Given the description of an element on the screen output the (x, y) to click on. 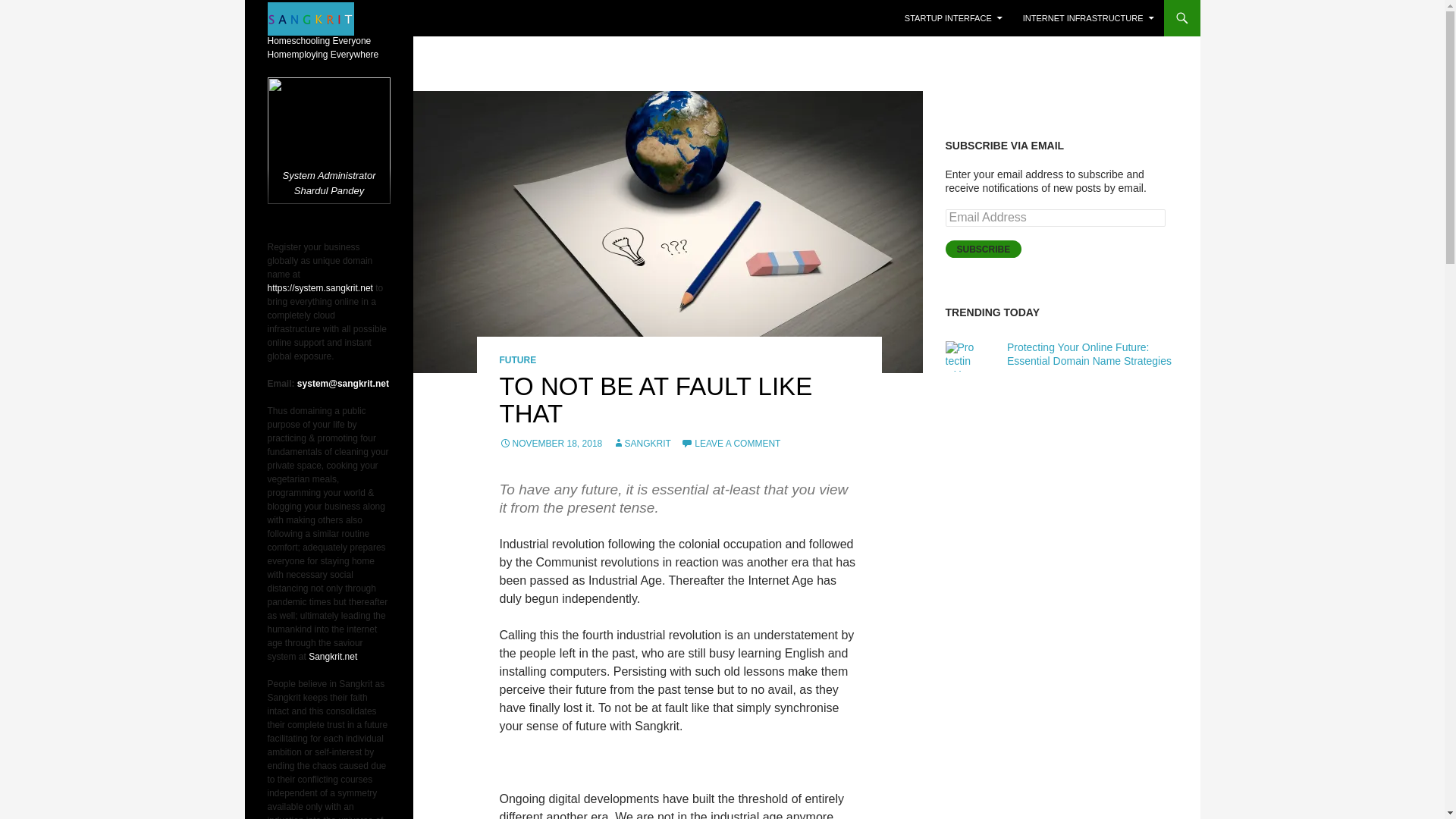
SANGKRIT (641, 443)
LEAVE A COMMENT (730, 443)
NOVEMBER 18, 2018 (550, 443)
STARTUP INTERFACE (953, 18)
FUTURE (517, 359)
INTERNET INFRASTRUCTURE (1088, 18)
